Given the description of an element on the screen output the (x, y) to click on. 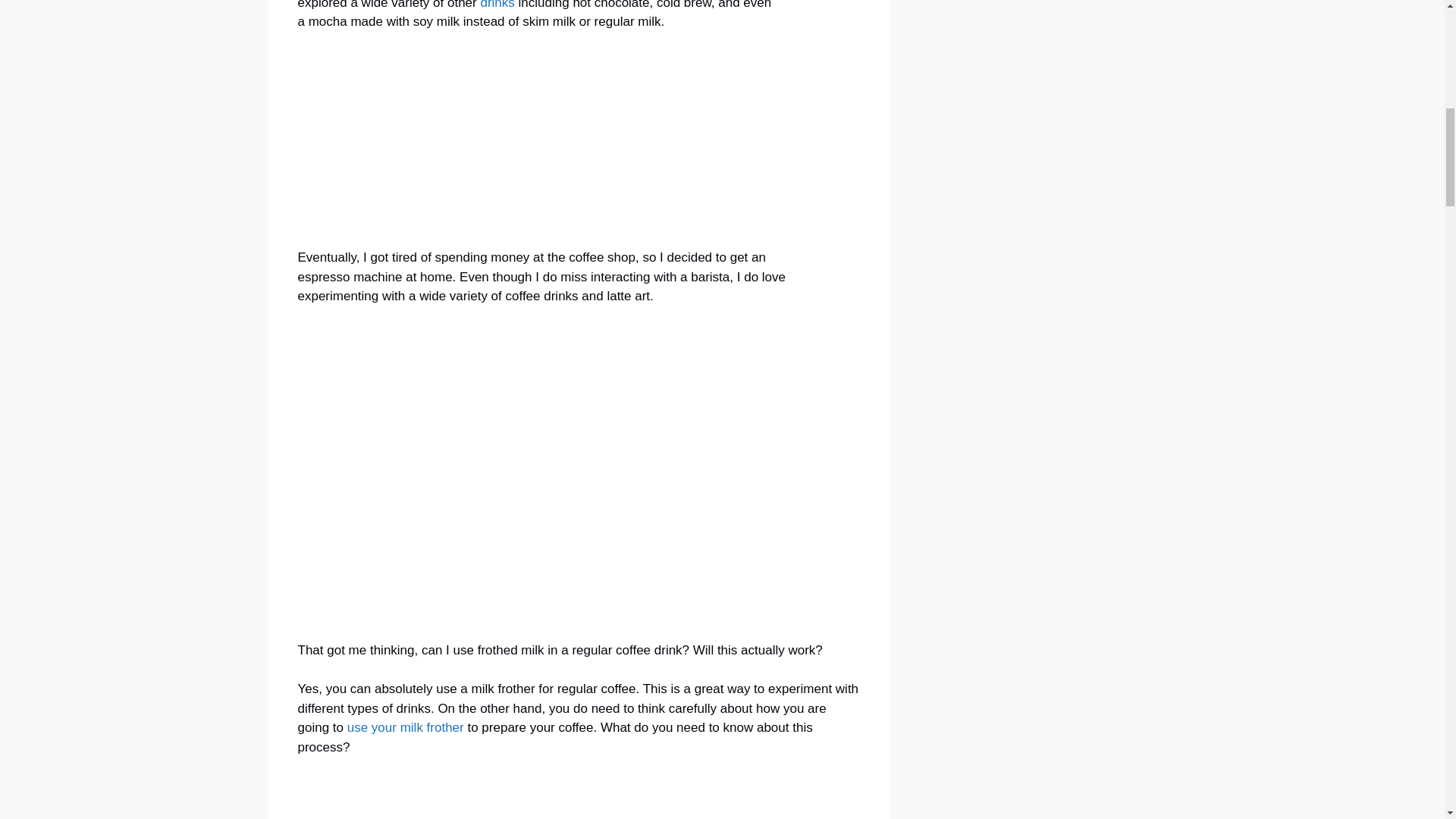
beverage (496, 4)
